Given the description of an element on the screen output the (x, y) to click on. 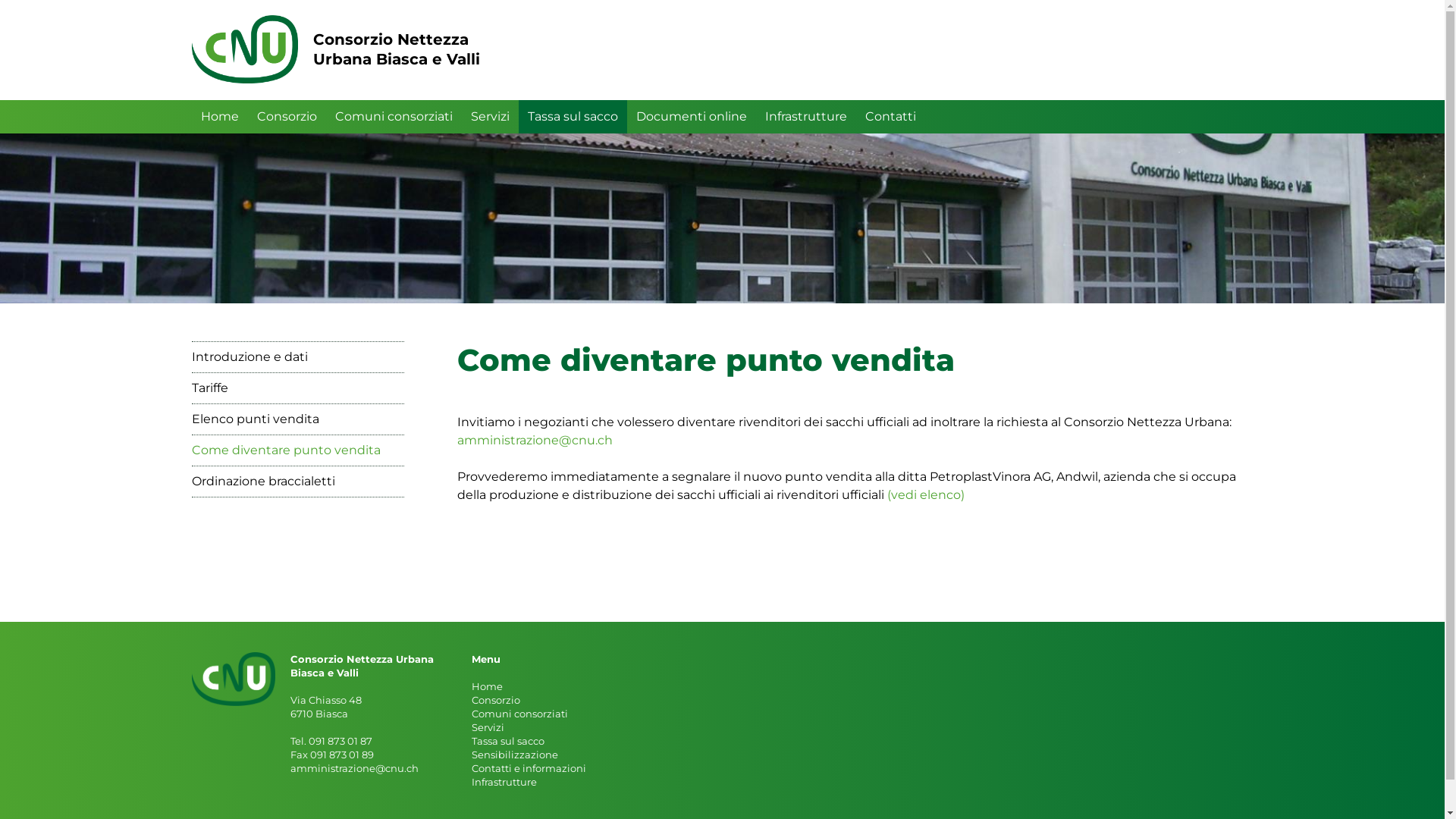
Contatti Element type: text (889, 116)
(vedi elenco) Element type: text (925, 494)
Servizi Element type: text (489, 116)
Consorzio Element type: text (286, 116)
amministrazione@cnu.ch Element type: text (533, 440)
Come diventare punto vendita Element type: text (297, 449)
Introduzione e dati Element type: text (297, 356)
Tassa sul sacco Element type: text (572, 116)
Comuni consorziati Element type: text (393, 116)
Infrastrutture Element type: text (805, 116)
Ordinazione braccialetti Element type: text (297, 480)
amministrazione@cnu.ch Element type: text (353, 768)
Home Element type: text (219, 116)
Tariffe Element type: text (297, 387)
Elenco punti vendita Element type: text (297, 418)
Documenti online Element type: text (690, 116)
